Given the description of an element on the screen output the (x, y) to click on. 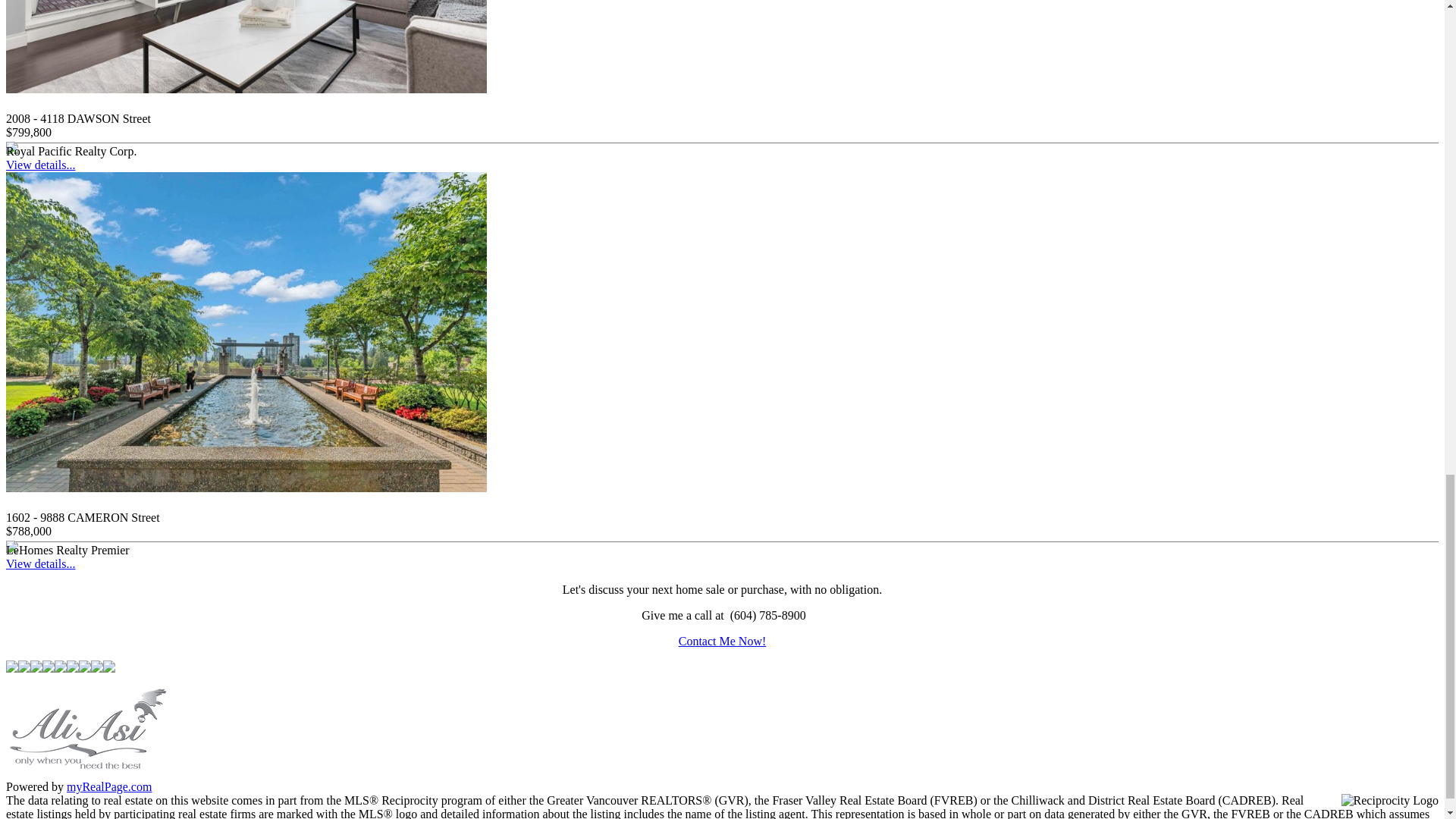
View details... (40, 563)
View details... (40, 164)
Contact Me Now! (722, 640)
